Given the description of an element on the screen output the (x, y) to click on. 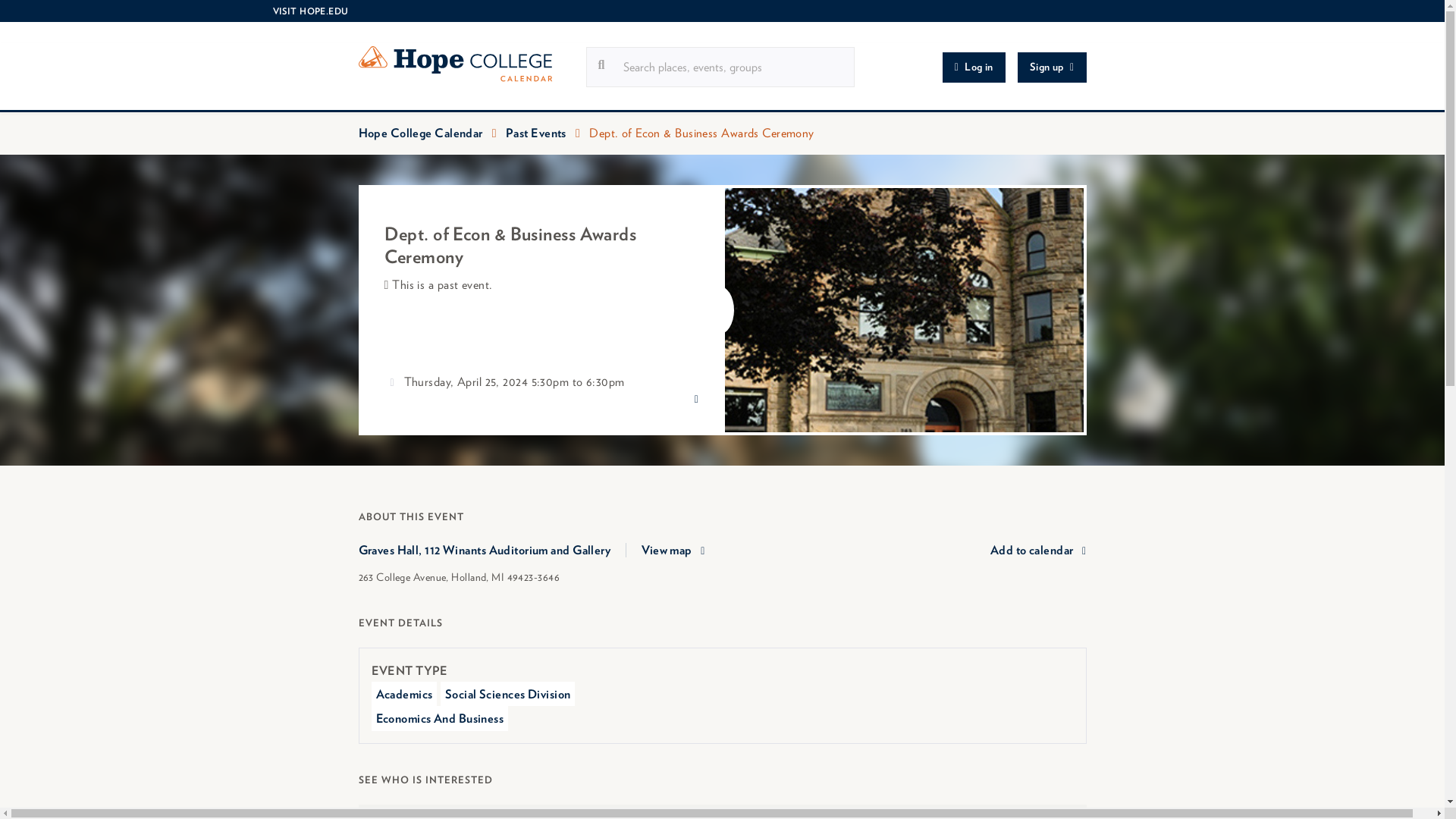
VISIT HOPE.EDU (309, 11)
Hope College Calendar (471, 66)
Social Sciences Division (508, 693)
Log in (974, 67)
Graves Hall, 112 Winants Auditorium and Gallery (492, 549)
View map (673, 550)
Add to calendar (1038, 550)
Sign up (1051, 67)
Hope College Calendar (419, 133)
Past Events (535, 133)
